Given the description of an element on the screen output the (x, y) to click on. 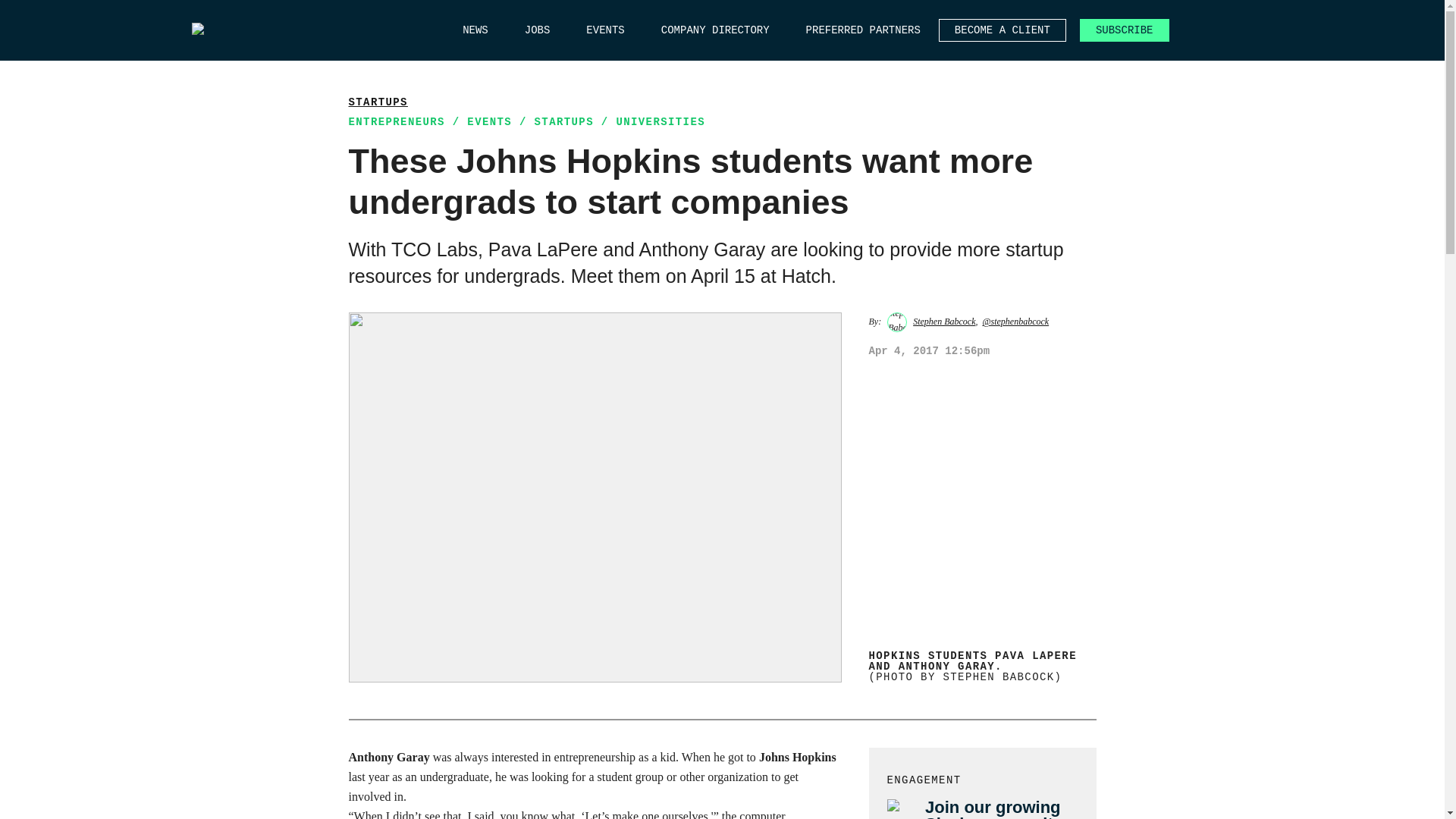
STARTUPS (378, 102)
NEWS (475, 30)
Events Board (605, 30)
ENTREPRENEURS (397, 121)
STARTUPS (564, 121)
Stephen Babcock's Twitter (1014, 321)
Preferred Partners (863, 30)
Become a Client (1002, 29)
JOBS (537, 30)
Company Directory (715, 30)
UNIVERSITIES (659, 121)
News (475, 30)
PREFERRED PARTNERS (863, 30)
SUBSCRIBE (1124, 29)
COMPANY DIRECTORY (715, 30)
